Given the description of an element on the screen output the (x, y) to click on. 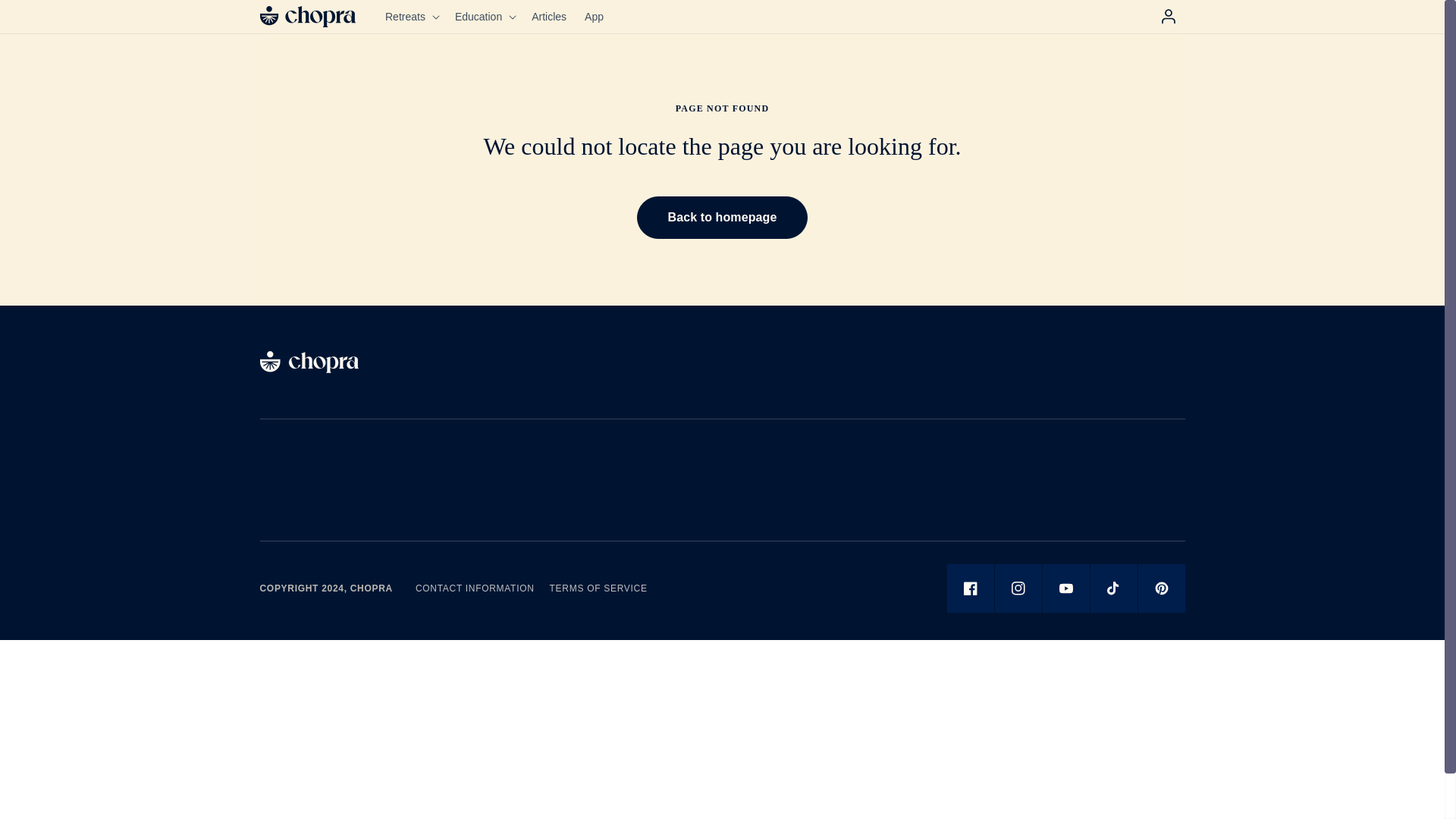
CONTACT INFORMATION (474, 588)
Back to homepage (722, 217)
TikTok (1113, 588)
CHOPRA (371, 588)
Pinterest (1161, 588)
Instagram (1018, 588)
TERMS OF SERVICE (598, 588)
YouTube (1065, 588)
App (593, 16)
